Given the description of an element on the screen output the (x, y) to click on. 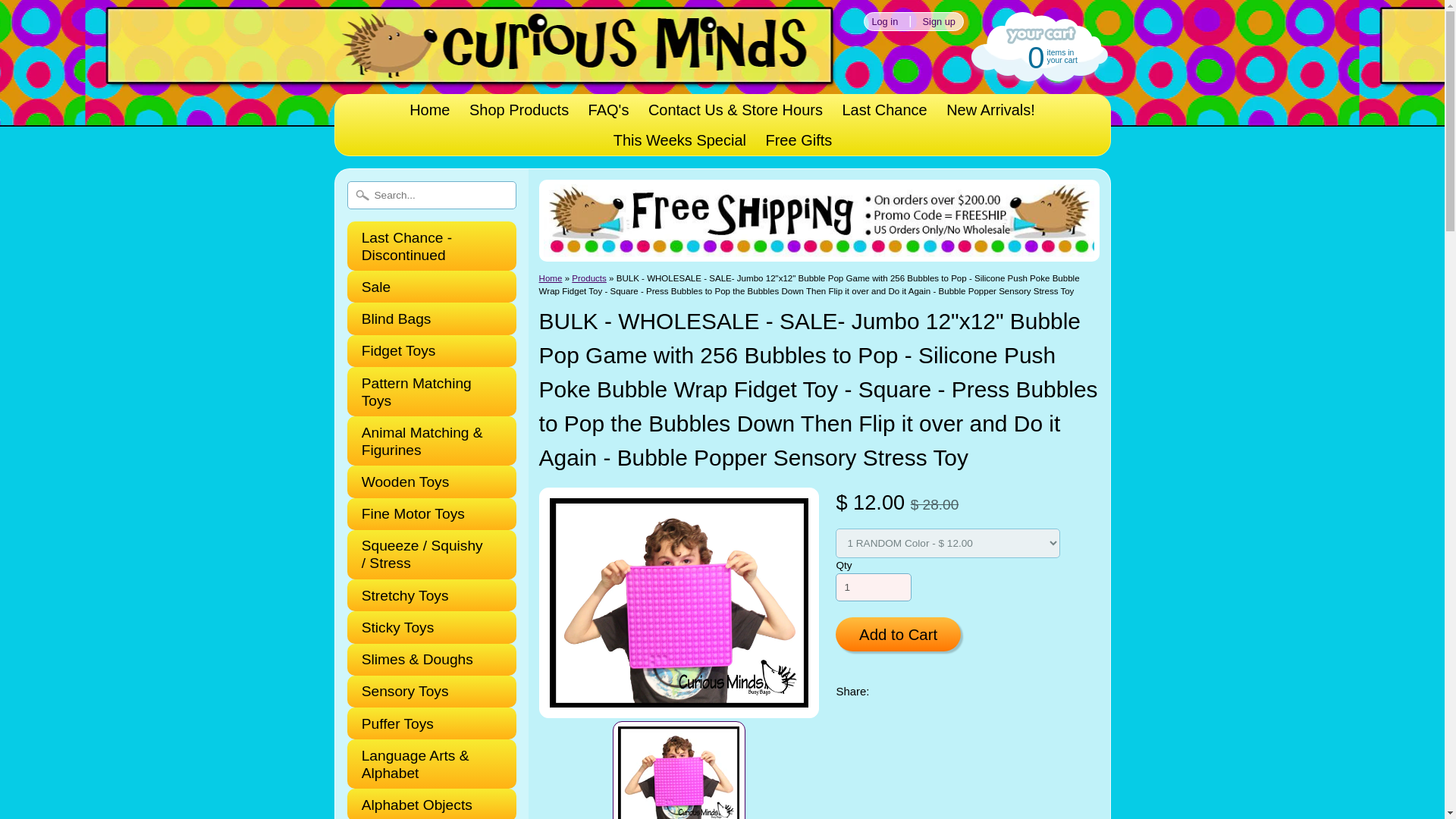
Free Gifts (798, 140)
Shop Products (518, 110)
Fine Motor Toys (424, 513)
Wooden Toys (424, 481)
FAQ's (608, 110)
Last Chance - Discontinued (424, 246)
Puffer Toys (424, 723)
Blind Bags (424, 318)
Sign up (938, 21)
Last Chance (884, 110)
Stretchy Toys (424, 595)
Fidget Toys (424, 350)
Sticky Toys (424, 627)
Alphabet Objects (424, 805)
